Given the description of an element on the screen output the (x, y) to click on. 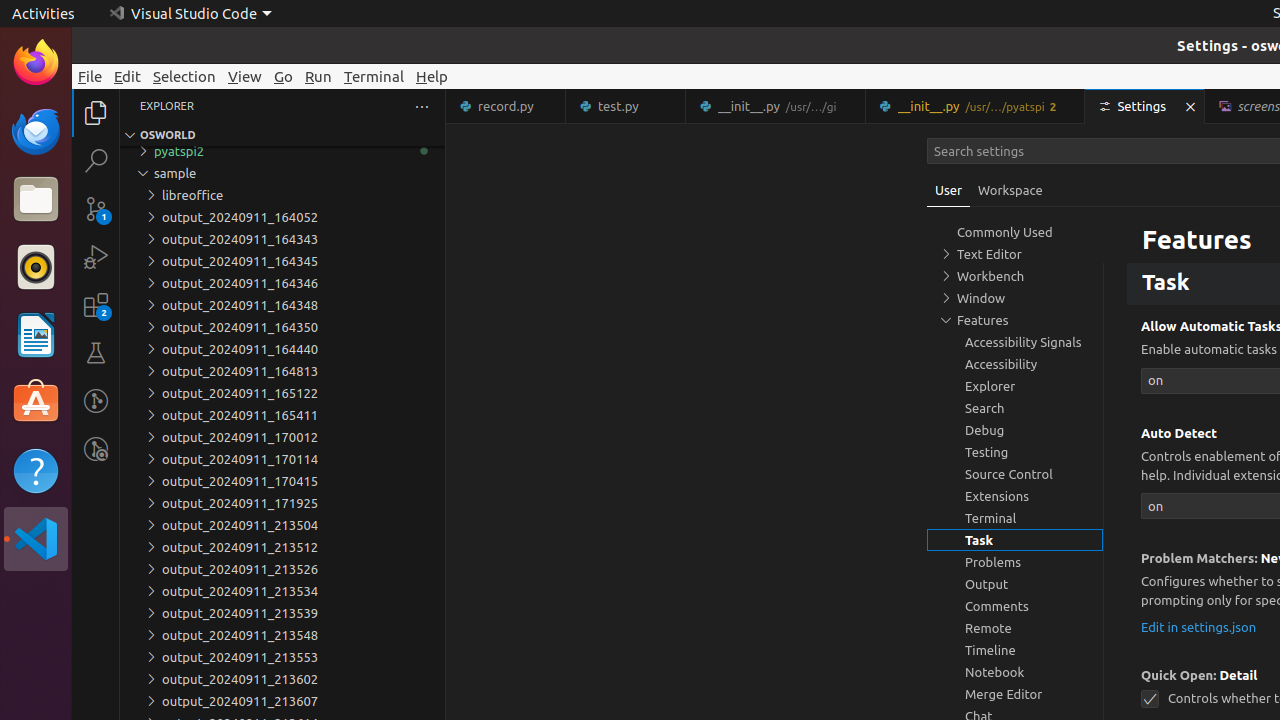
Edit in settings.json: task.problemMatchers.neverPrompt Element type: push-button (1199, 626)
Selection Element type: push-button (184, 76)
output_20240911_164343 Element type: tree-item (282, 239)
Features, group Element type: tree-item (1015, 320)
